Given the description of an element on the screen output the (x, y) to click on. 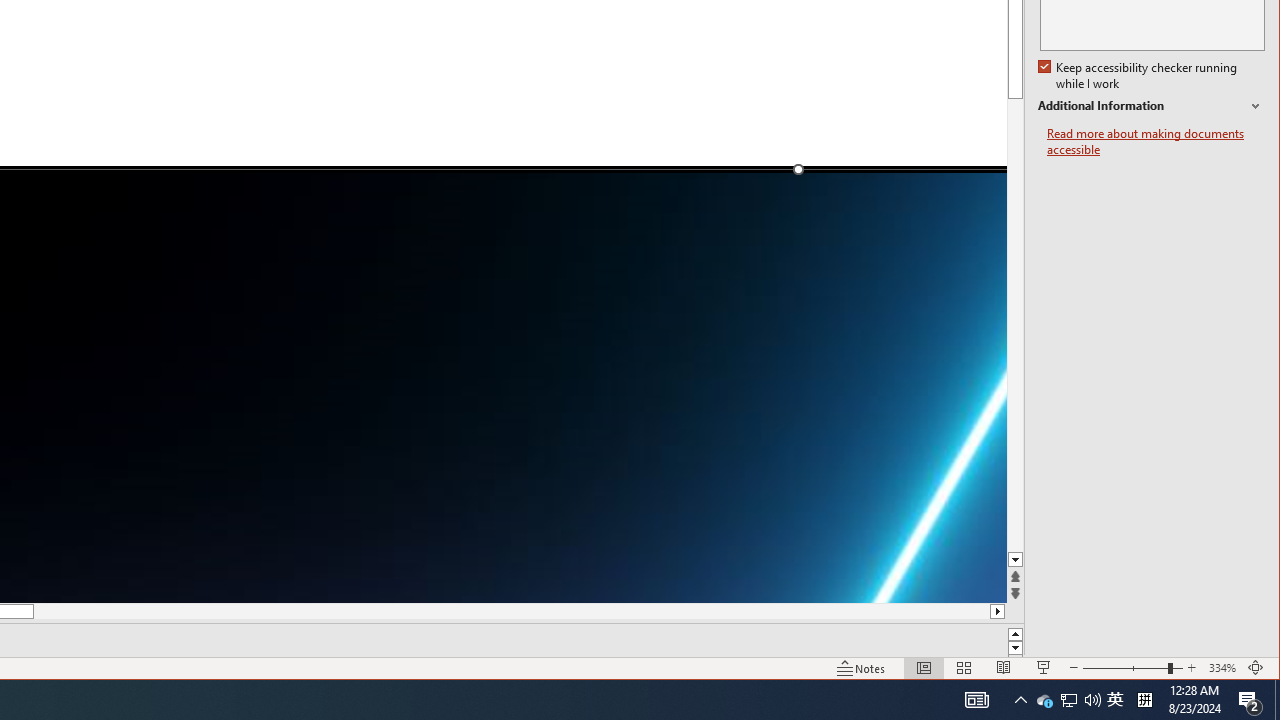
Zoom 334% (1222, 668)
